Given the description of an element on the screen output the (x, y) to click on. 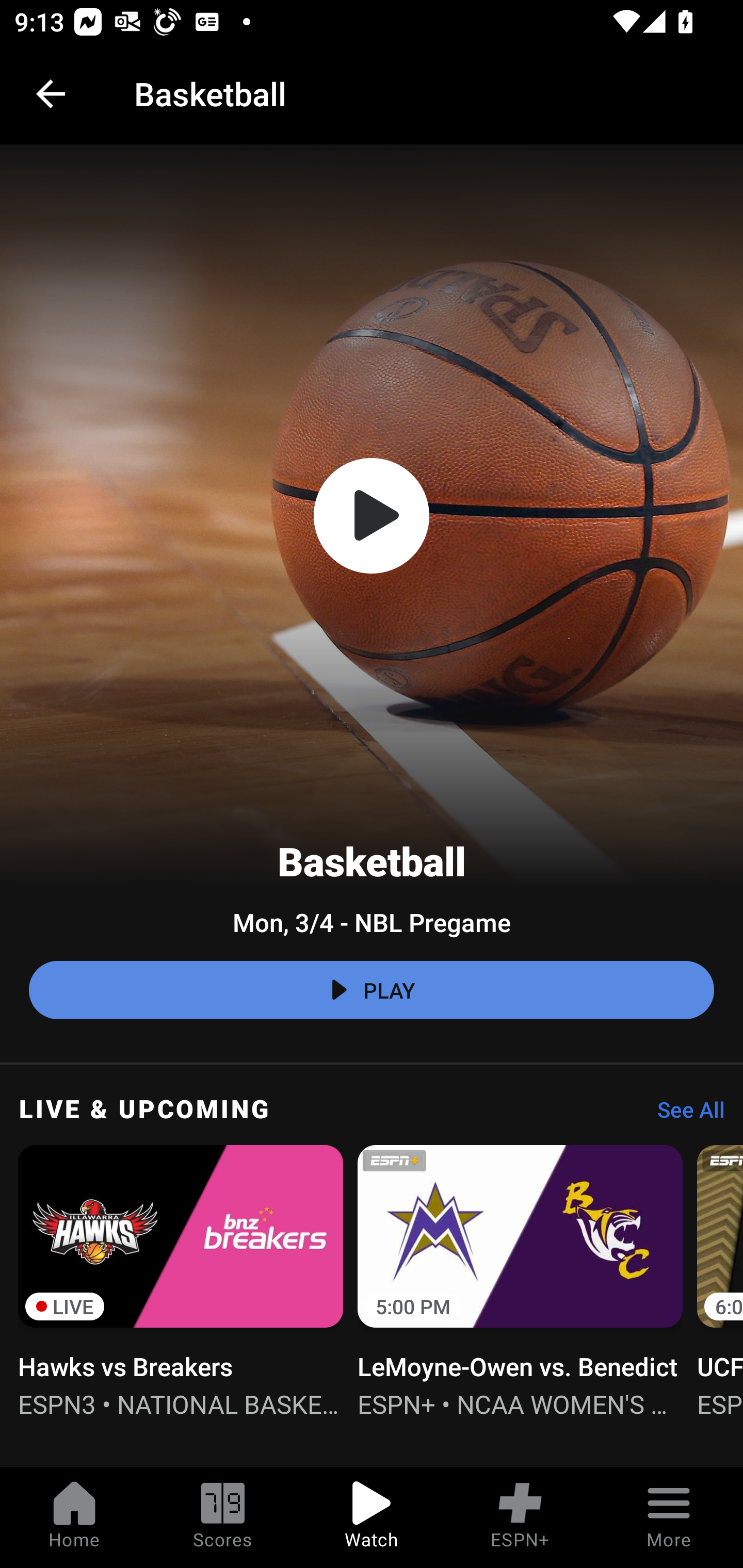
 (371, 515)
PLAY (371, 990)
See All (683, 1114)
Home (74, 1517)
Scores (222, 1517)
ESPN+ (519, 1517)
More (668, 1517)
